Given the description of an element on the screen output the (x, y) to click on. 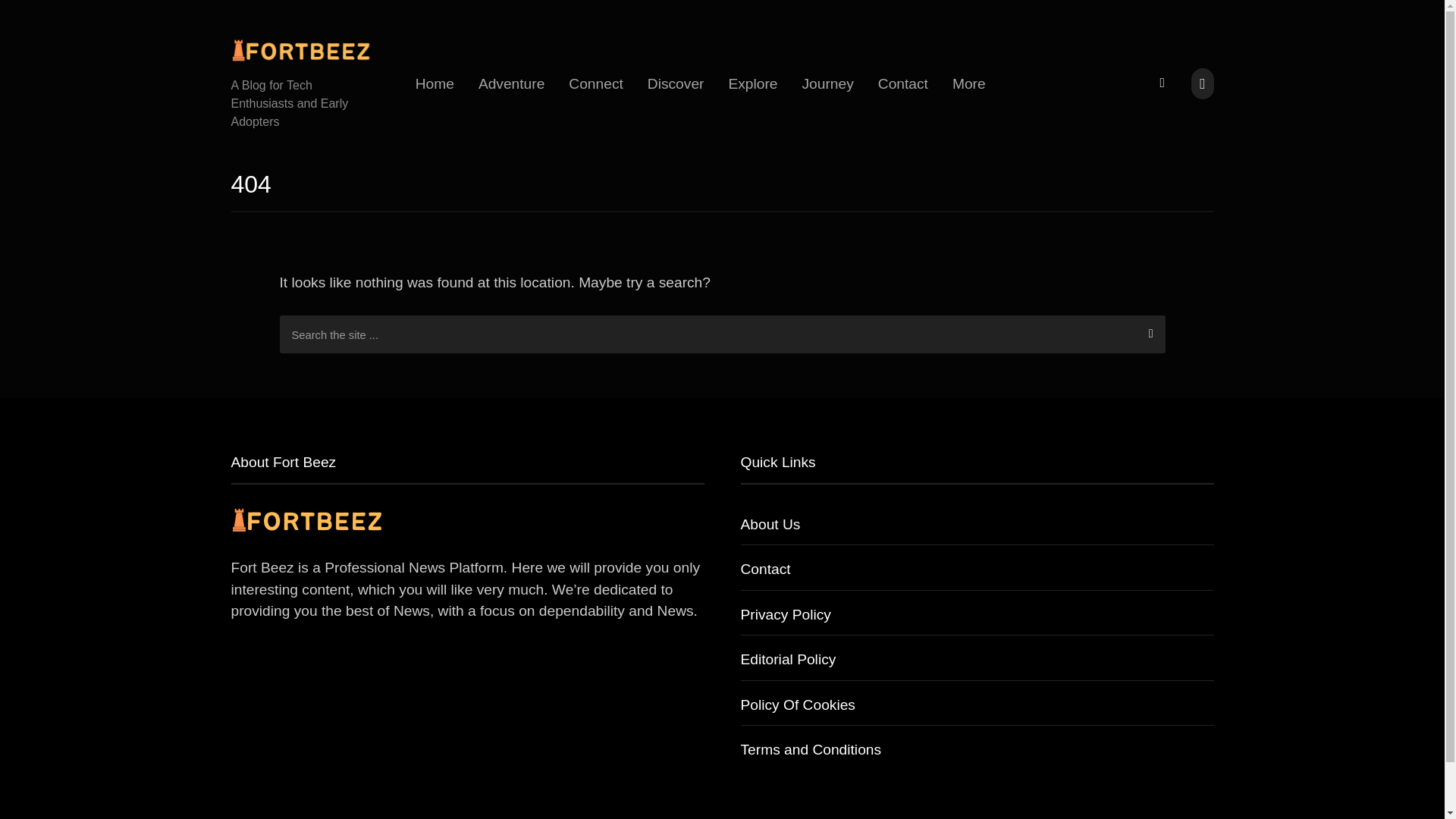
Privacy Policy (784, 614)
More (968, 83)
Connect (595, 83)
Journey (828, 83)
Adventure (510, 83)
Home (434, 83)
Editorial Policy (787, 659)
Explore (752, 83)
Contact (764, 569)
Contact (903, 83)
Discover (675, 83)
About Us (769, 524)
